Given the description of an element on the screen output the (x, y) to click on. 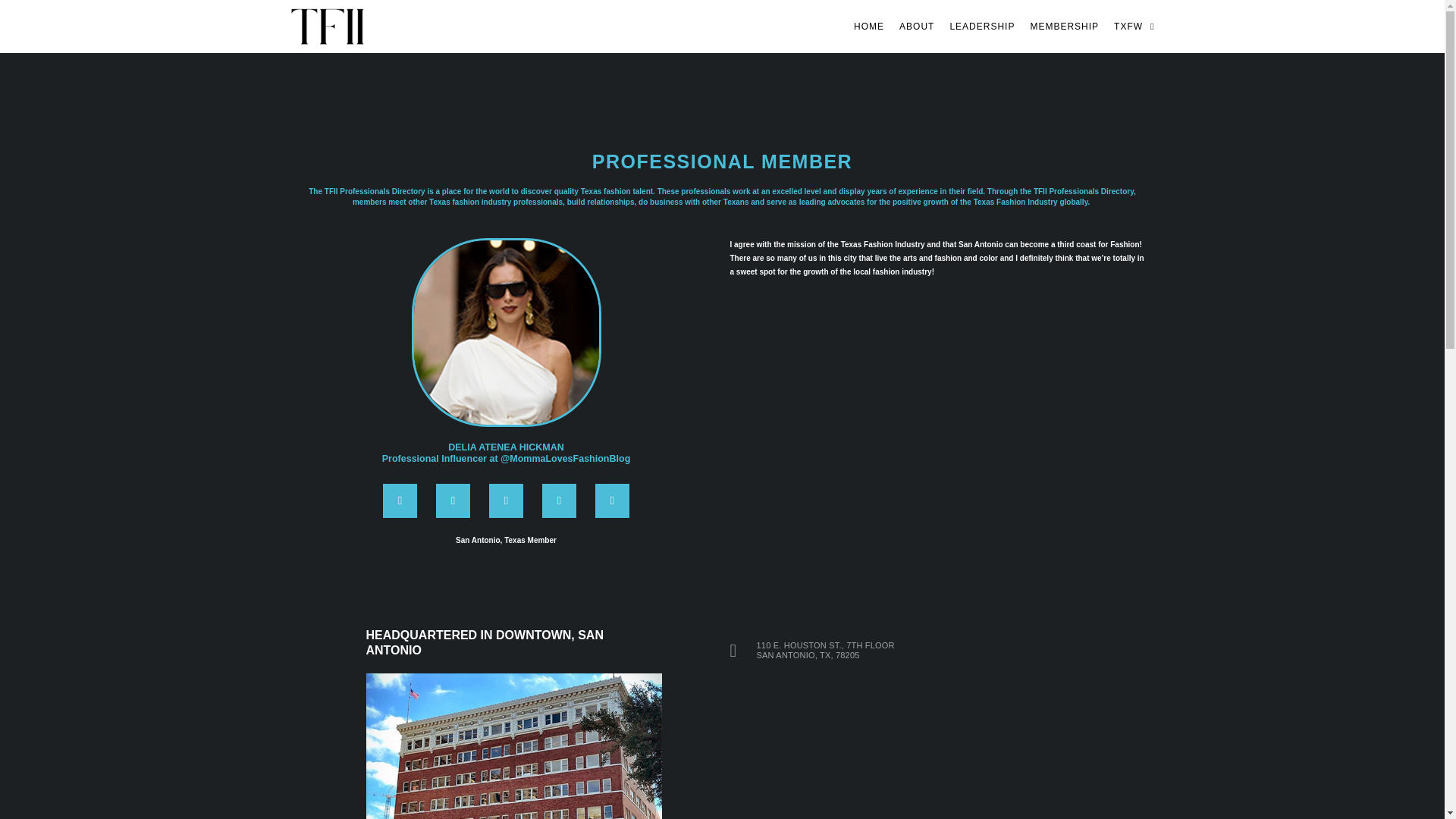
LEADERSHIP (981, 26)
TXFW (1133, 26)
110 E. HOUSTON ST., SAN ANTONIO, TX 78205 (899, 747)
MEMBERSHIP (1064, 26)
ABOUT (916, 26)
